Given the description of an element on the screen output the (x, y) to click on. 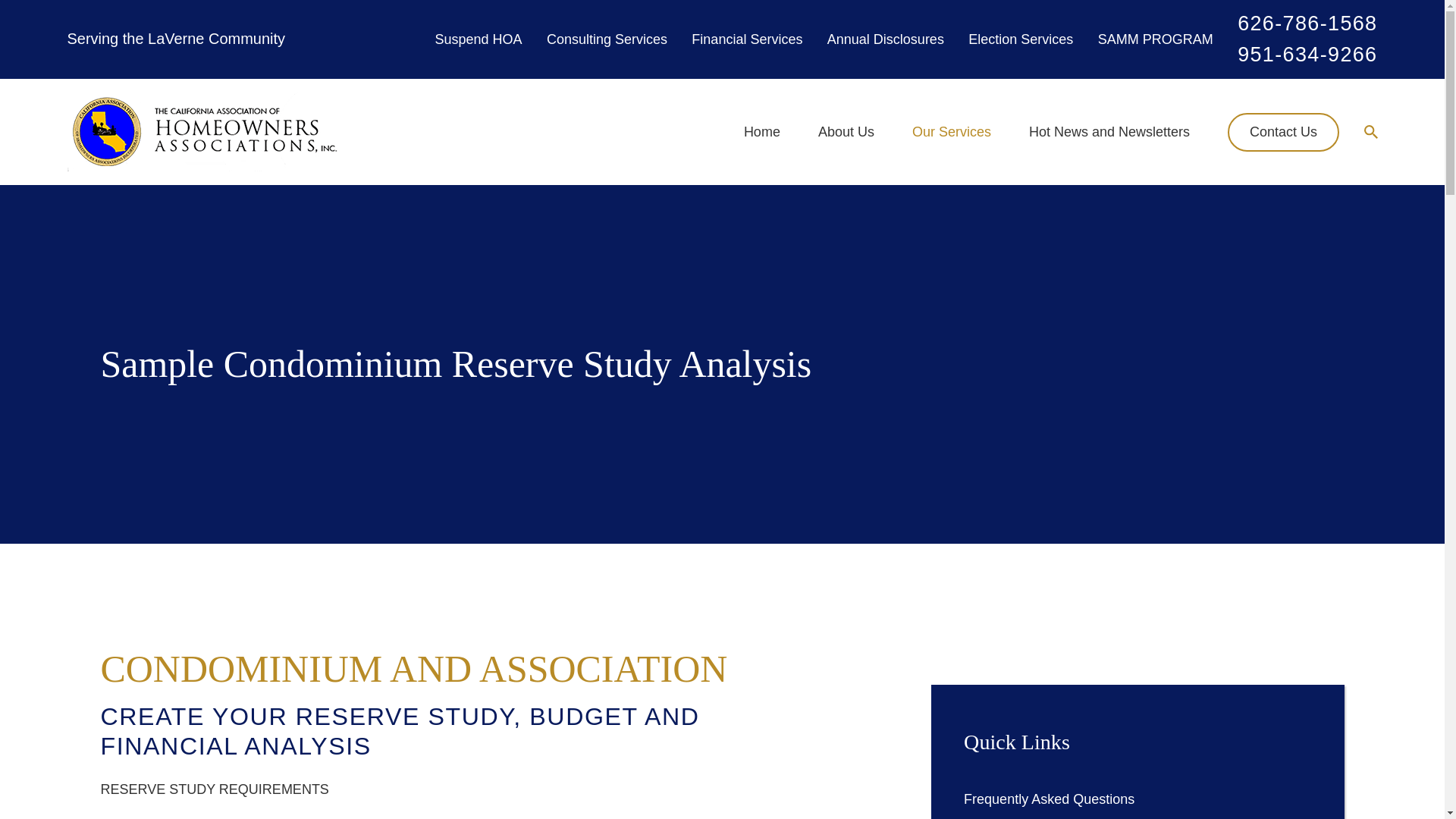
626-786-1568 (1307, 23)
Annual Disclosures (885, 38)
Financial Services (746, 38)
951-634-9266 (1307, 55)
Election Services (1020, 38)
SAMM PROGRAM (1154, 38)
Home (202, 131)
About Us (846, 131)
Consulting Services (606, 38)
Hot News and Newsletters (1109, 131)
